Given the description of an element on the screen output the (x, y) to click on. 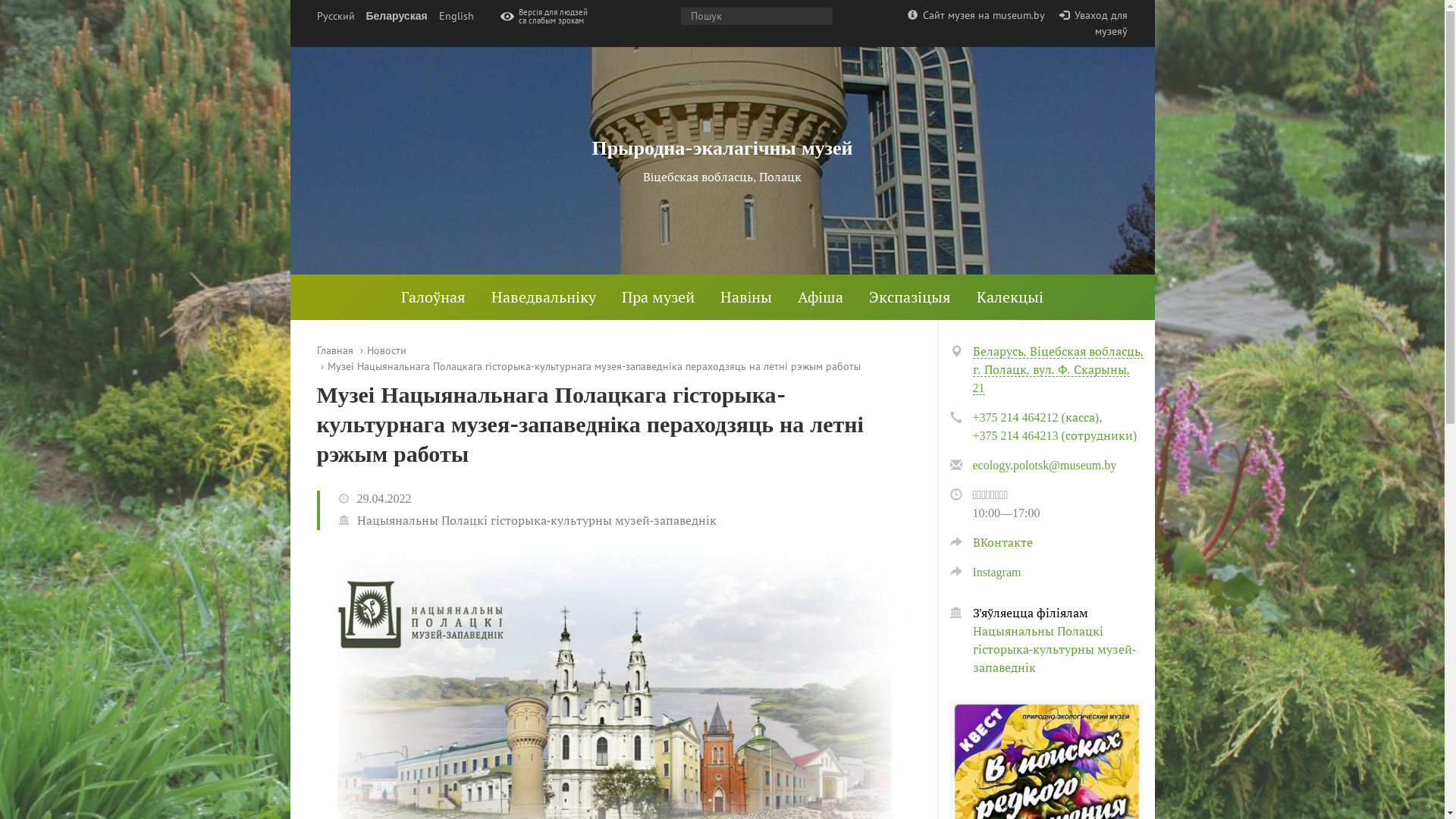
Instagram Element type: text (984, 571)
ecology.polotsk@museum.by Element type: text (1044, 464)
English Element type: text (456, 16)
